Given the description of an element on the screen output the (x, y) to click on. 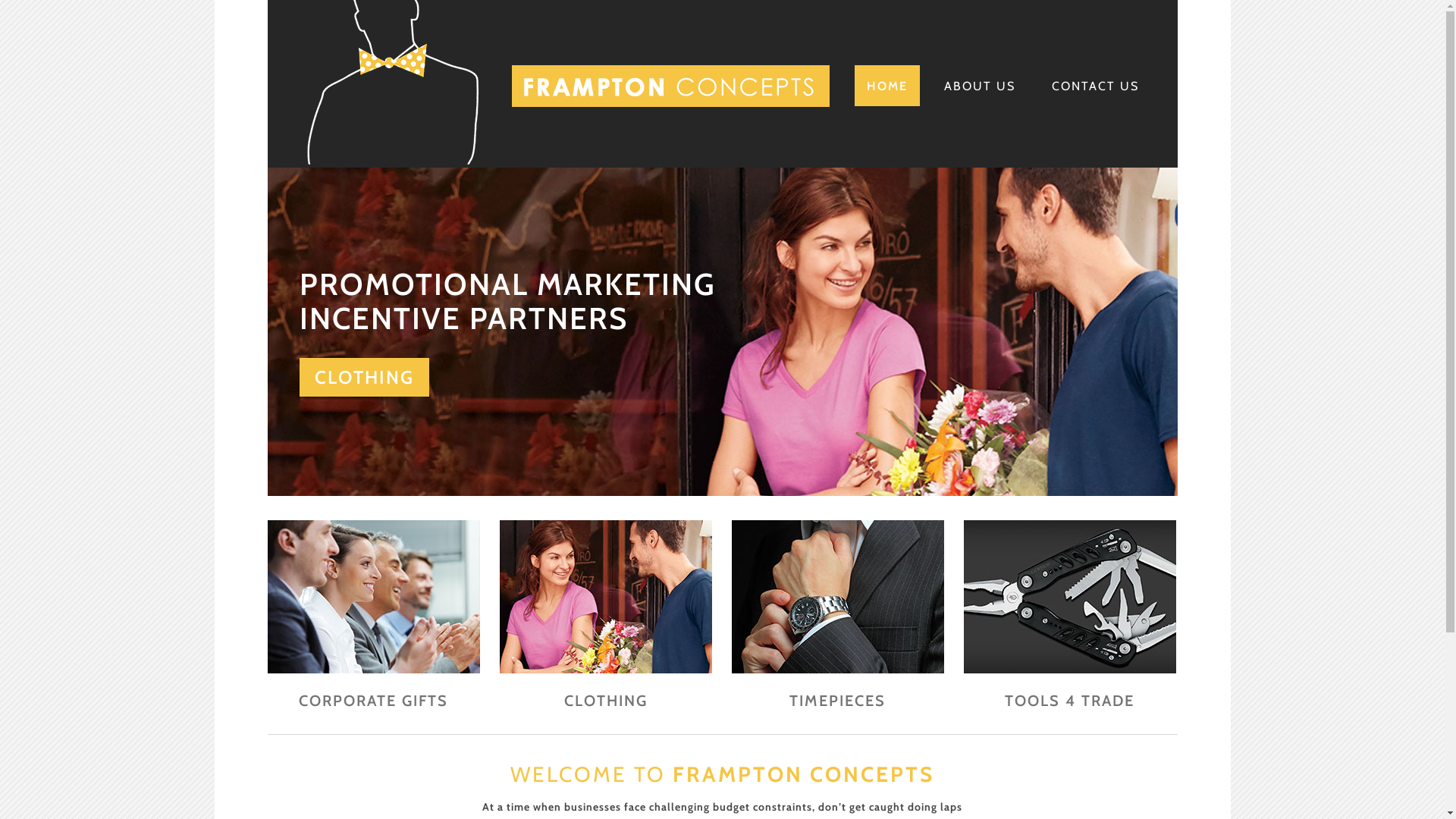
ABOUT US Element type: text (978, 85)
CLOTHING Element type: text (363, 376)
HOME Element type: text (886, 85)
Frampton Concepts Element type: hover (567, 160)
TOOLS 4 TRADE Element type: text (1069, 700)
TIMEPIECES Element type: text (837, 700)
CONTACT US Element type: text (1094, 85)
CORPORATE GIFTS Element type: text (373, 700)
CLOTHING Element type: text (605, 700)
